Given the description of an element on the screen output the (x, y) to click on. 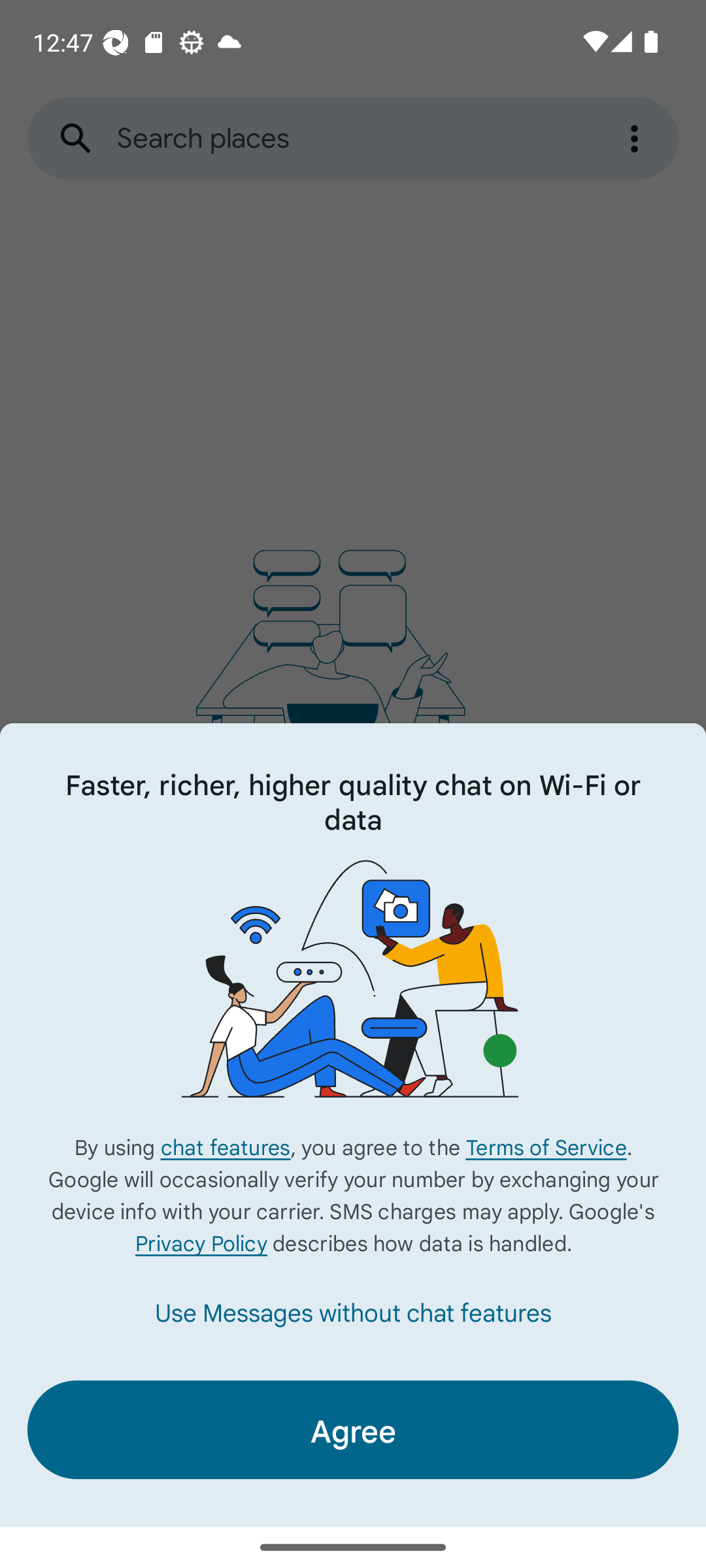
Use Messages without chat features (352, 1311)
Agree (352, 1429)
